Given the description of an element on the screen output the (x, y) to click on. 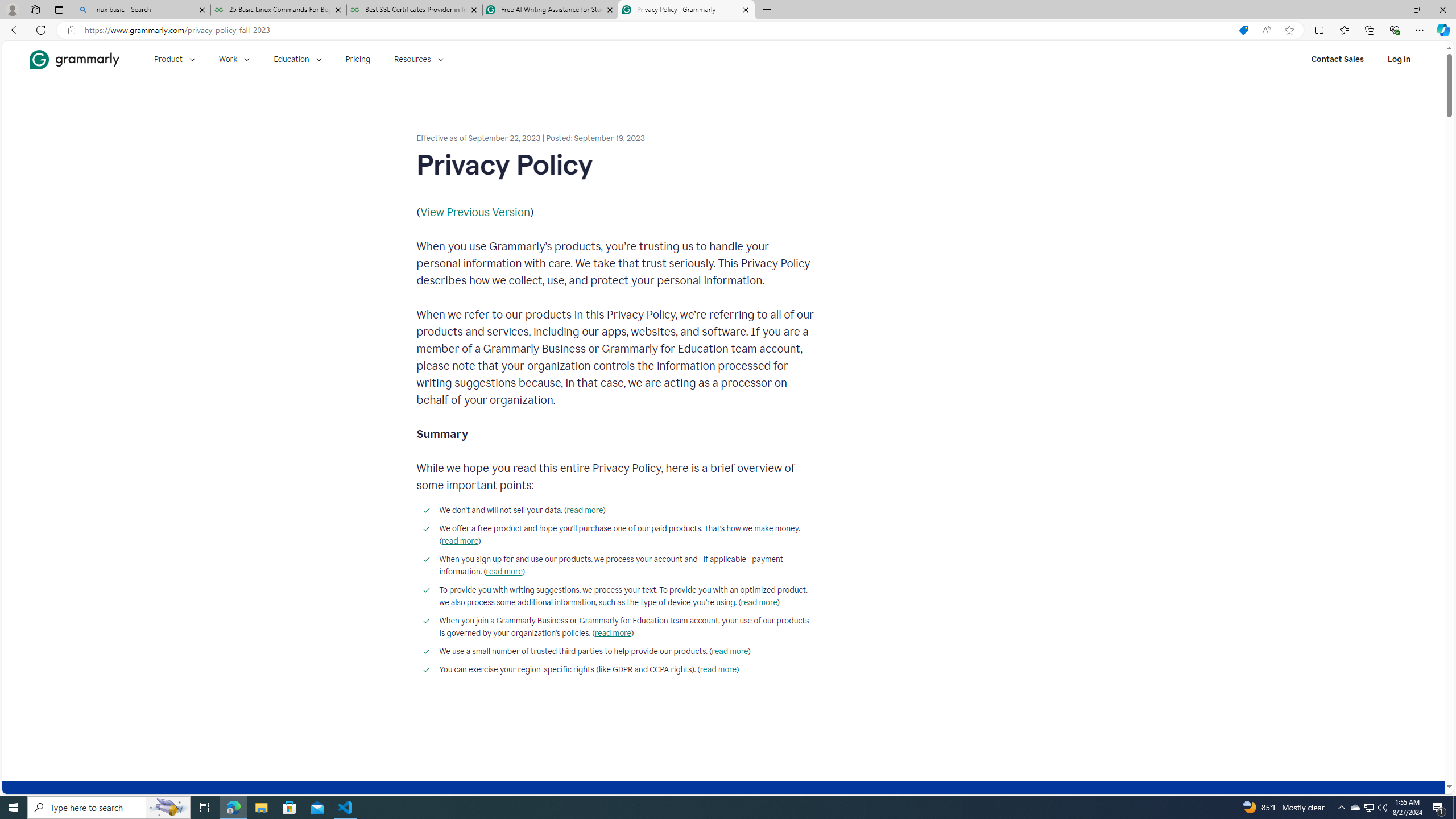
Education (297, 58)
Contact Sales (1337, 58)
Free AI Writing Assistance for Students | Grammarly (550, 9)
Work (234, 58)
